Given the description of an element on the screen output the (x, y) to click on. 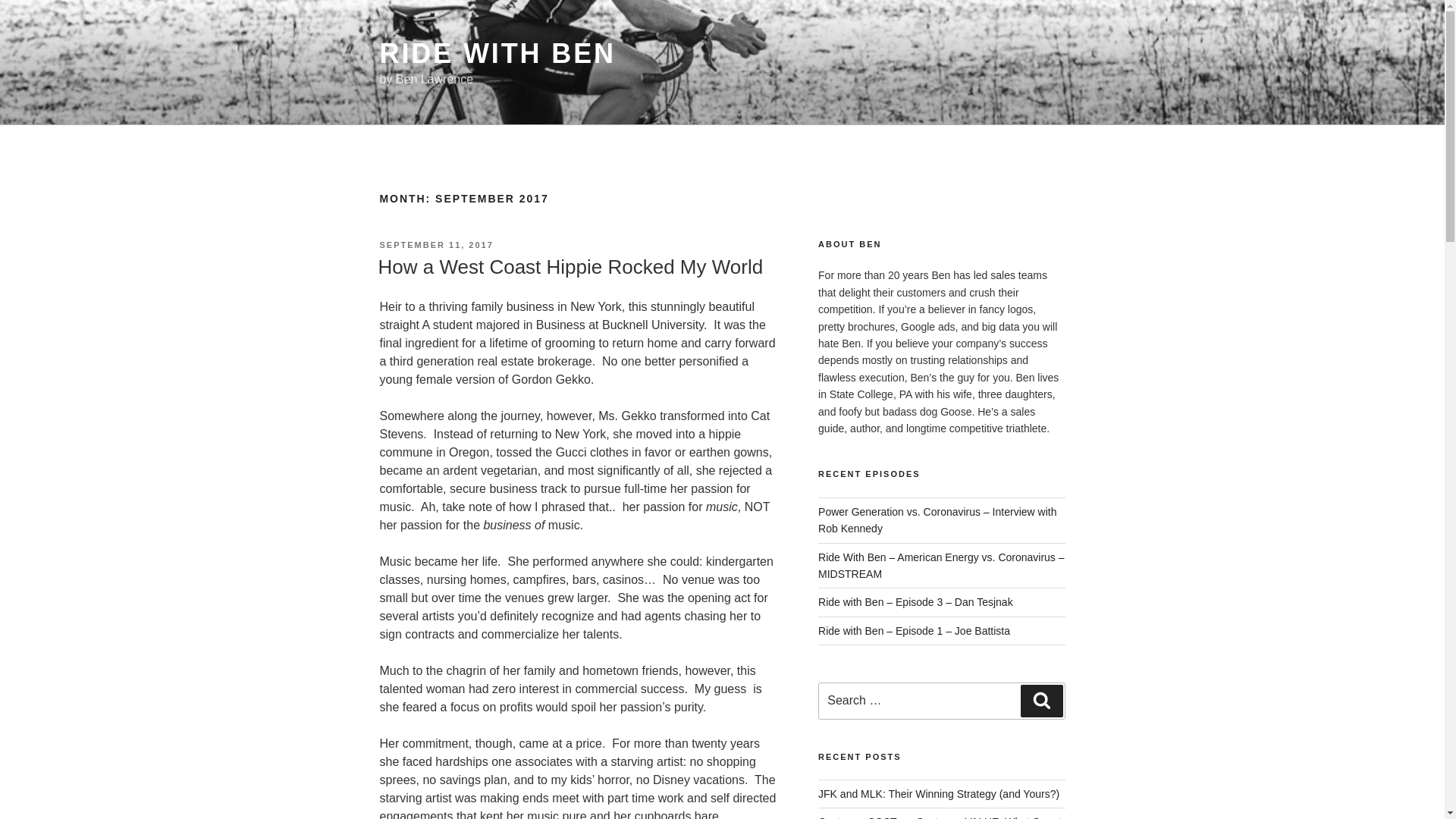
Search (1041, 700)
How a West Coast Hippie Rocked My World (569, 266)
RIDE WITH BEN (496, 52)
SEPTEMBER 11, 2017 (435, 244)
